Given the description of an element on the screen output the (x, y) to click on. 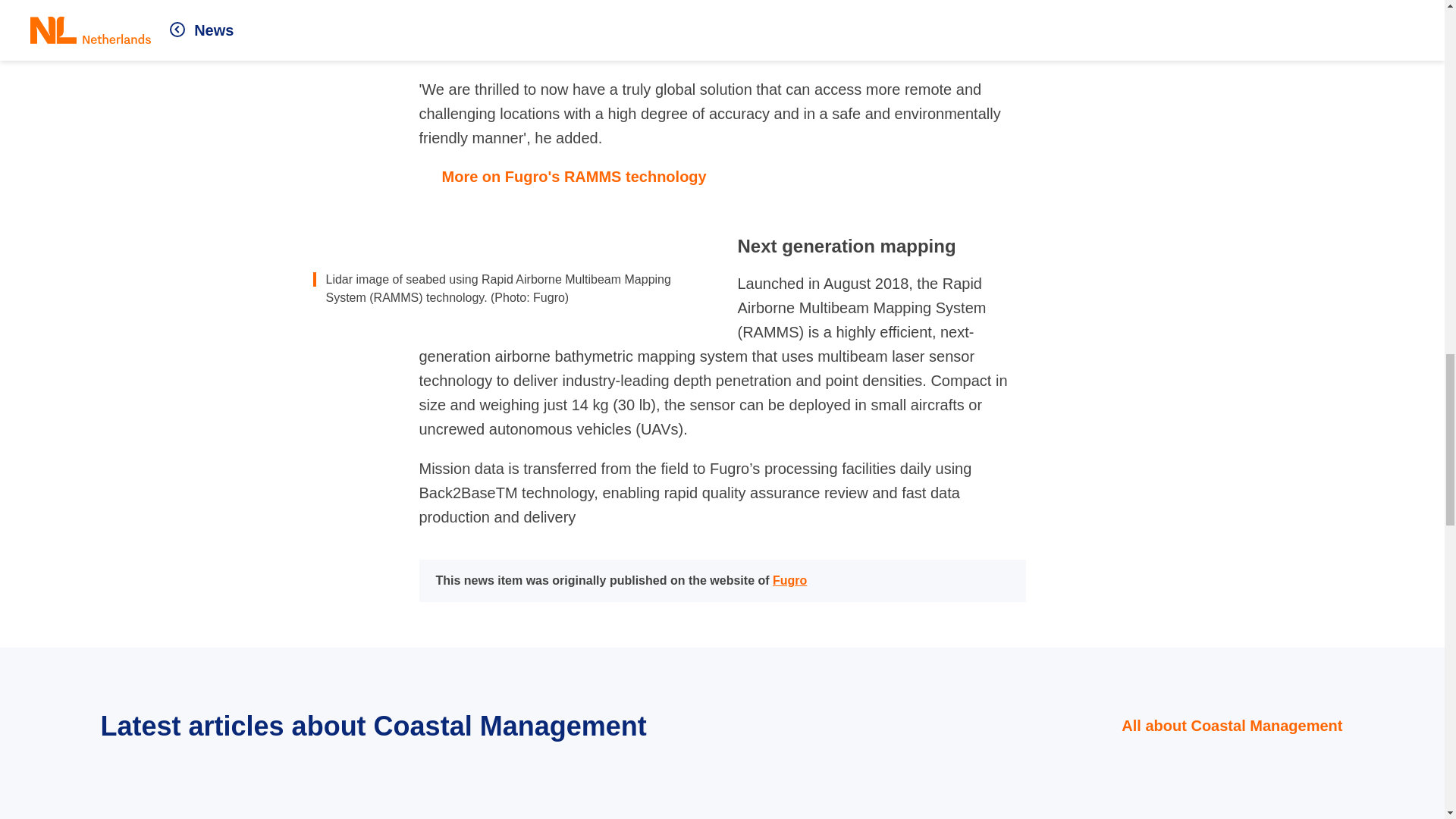
Fugro (789, 580)
More on Fugro's RAMMS technology (722, 176)
All about Coastal Management (1221, 725)
